Given the description of an element on the screen output the (x, y) to click on. 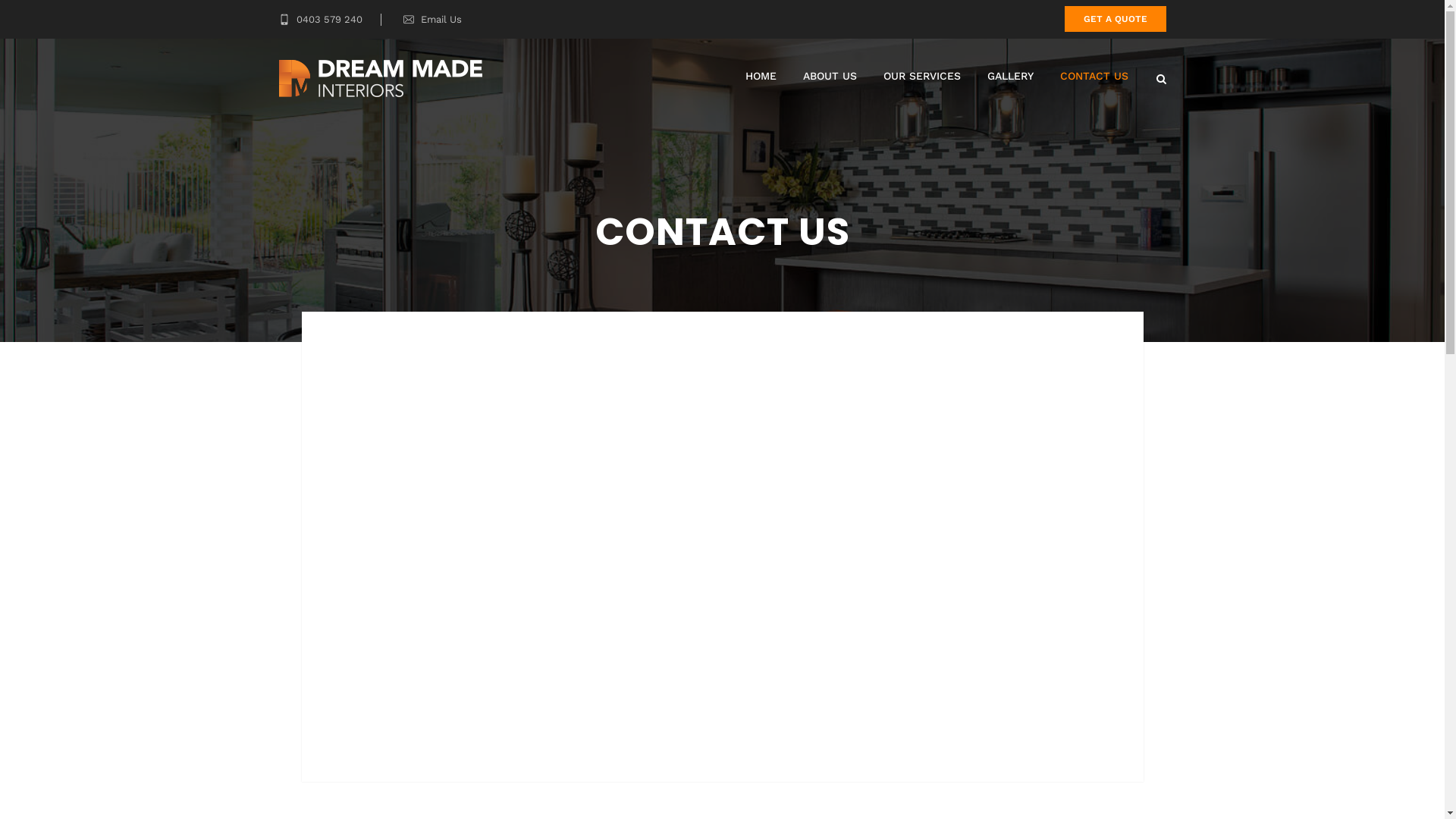
GET A QUOTE Element type: text (1115, 18)
Logo Element type: hover (380, 78)
ABOUT US Element type: text (829, 75)
OUR SERVICES Element type: text (921, 75)
HOME Element type: text (759, 75)
0403 579 240 Element type: text (320, 19)
GALLERY Element type: text (1010, 75)
CONTACT US Element type: text (1094, 75)
Email Us Element type: text (440, 19)
